Given the description of an element on the screen output the (x, y) to click on. 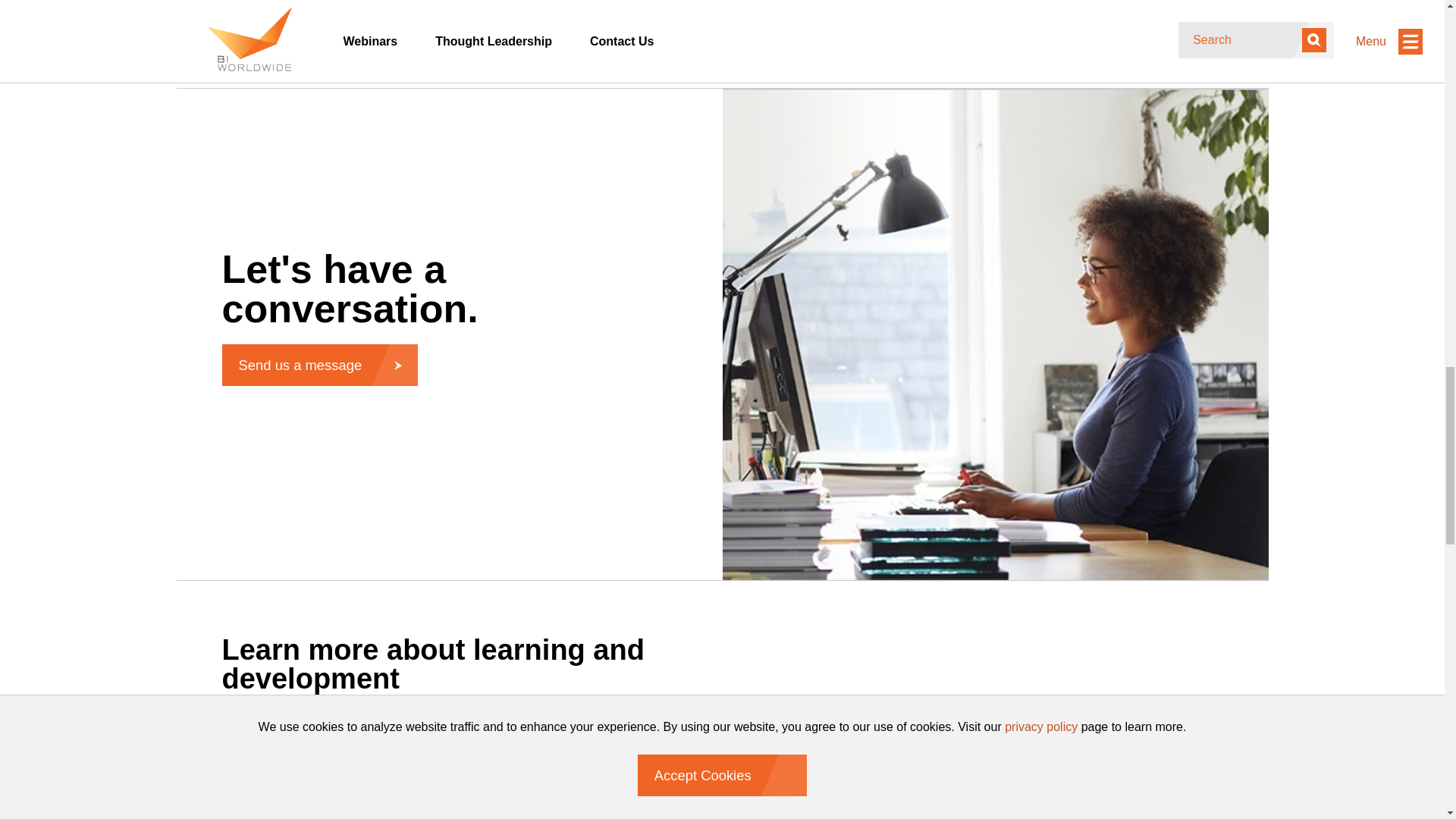
Send us a message (318, 364)
